Given the description of an element on the screen output the (x, y) to click on. 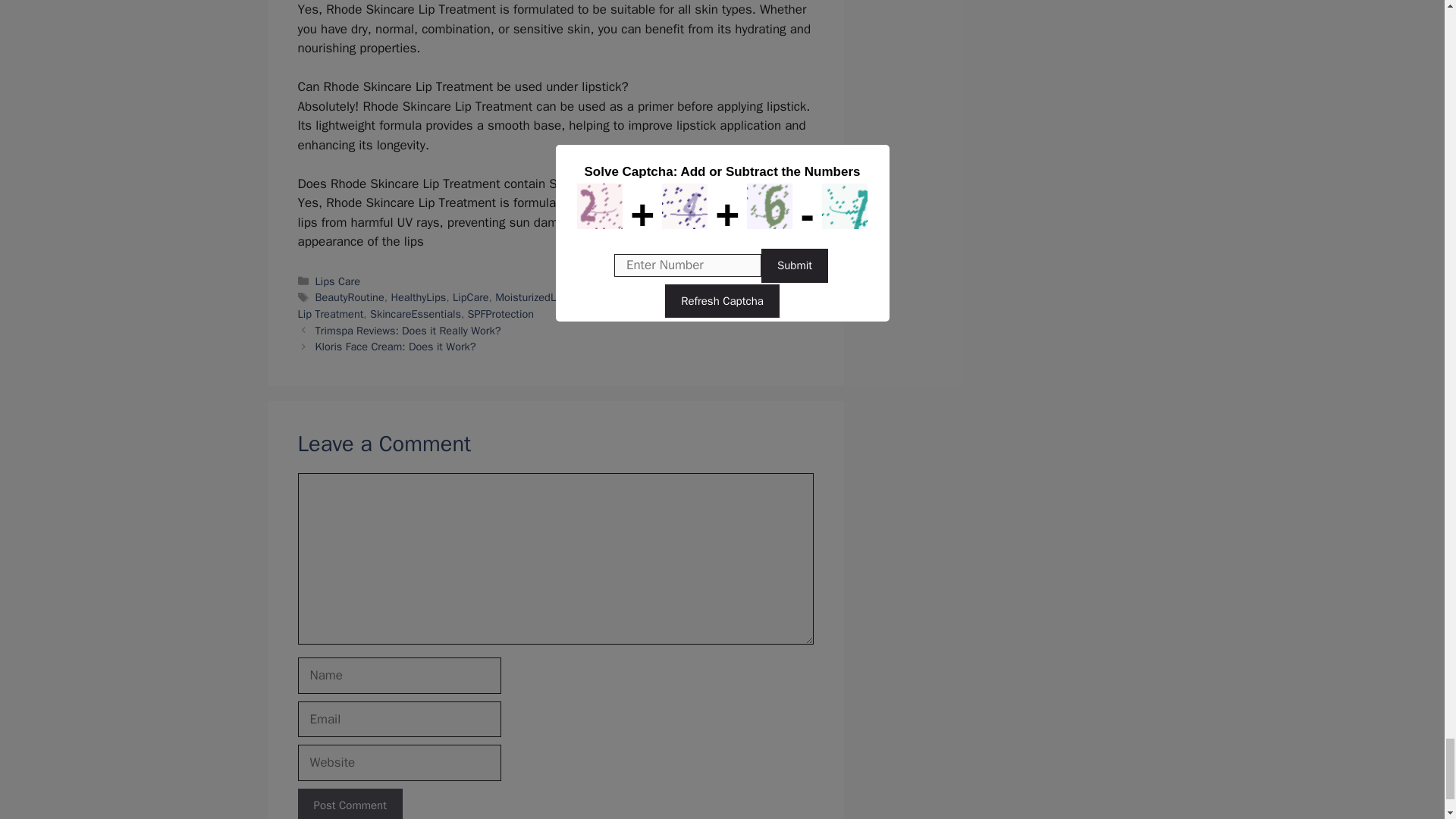
HealthyLips (417, 296)
BeautyRoutine (349, 296)
Post Comment (349, 803)
SPFProtection (500, 314)
NourishedLips (684, 296)
LipCare (470, 296)
Rhode Skincare Lip Treatment (548, 305)
NaturalBeauty (610, 296)
MoisturizedLips (532, 296)
SkincareEssentials (415, 314)
Kloris Face Cream: Does it Work? (395, 345)
Lips Care (337, 281)
Trimspa Reviews: Does it Really Work? (407, 330)
